Given the description of an element on the screen output the (x, y) to click on. 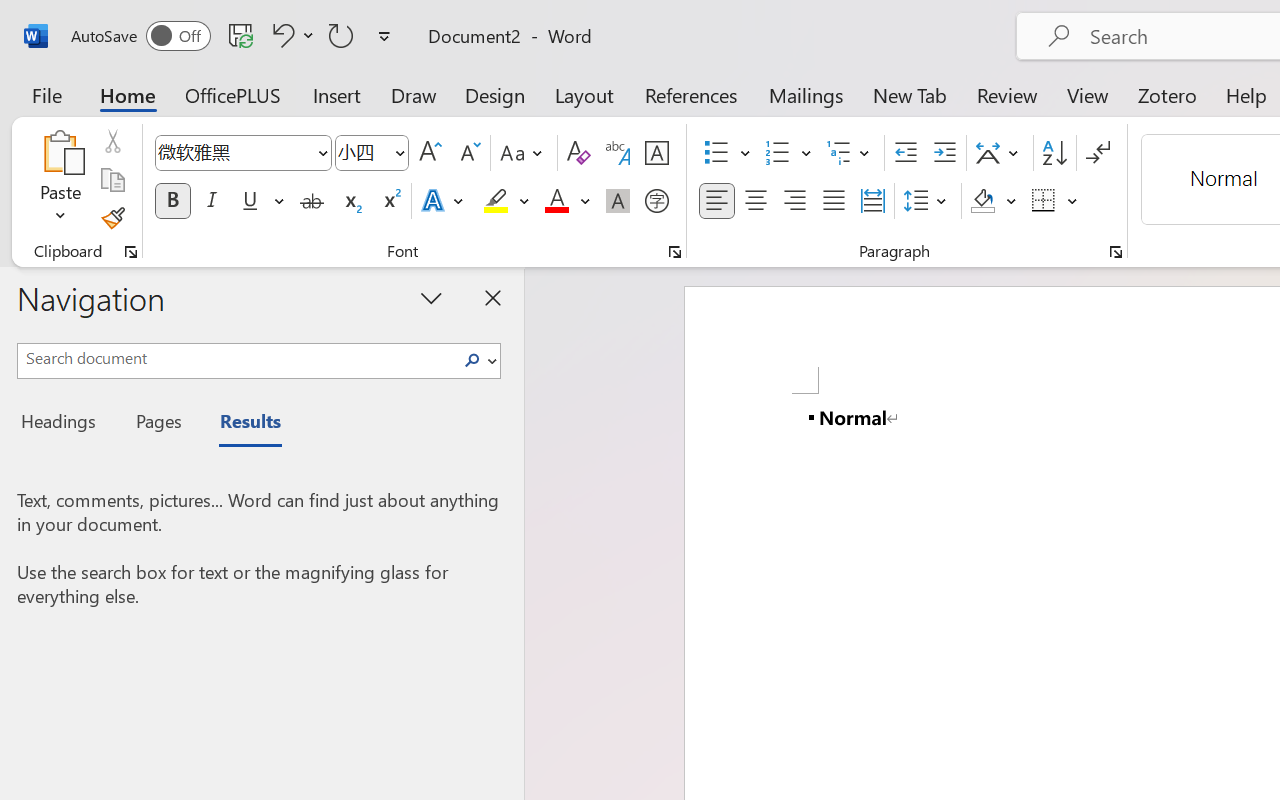
Class: NetUIImage (471, 360)
Phonetic Guide... (618, 153)
AutoSave (140, 35)
Borders (1044, 201)
Mailings (806, 94)
Increase Indent (944, 153)
Font Color Red (556, 201)
Save (241, 35)
Copy (112, 179)
Bullets (727, 153)
Subscript (350, 201)
Zotero (1166, 94)
Numbering (778, 153)
Superscript (390, 201)
